Given the description of an element on the screen output the (x, y) to click on. 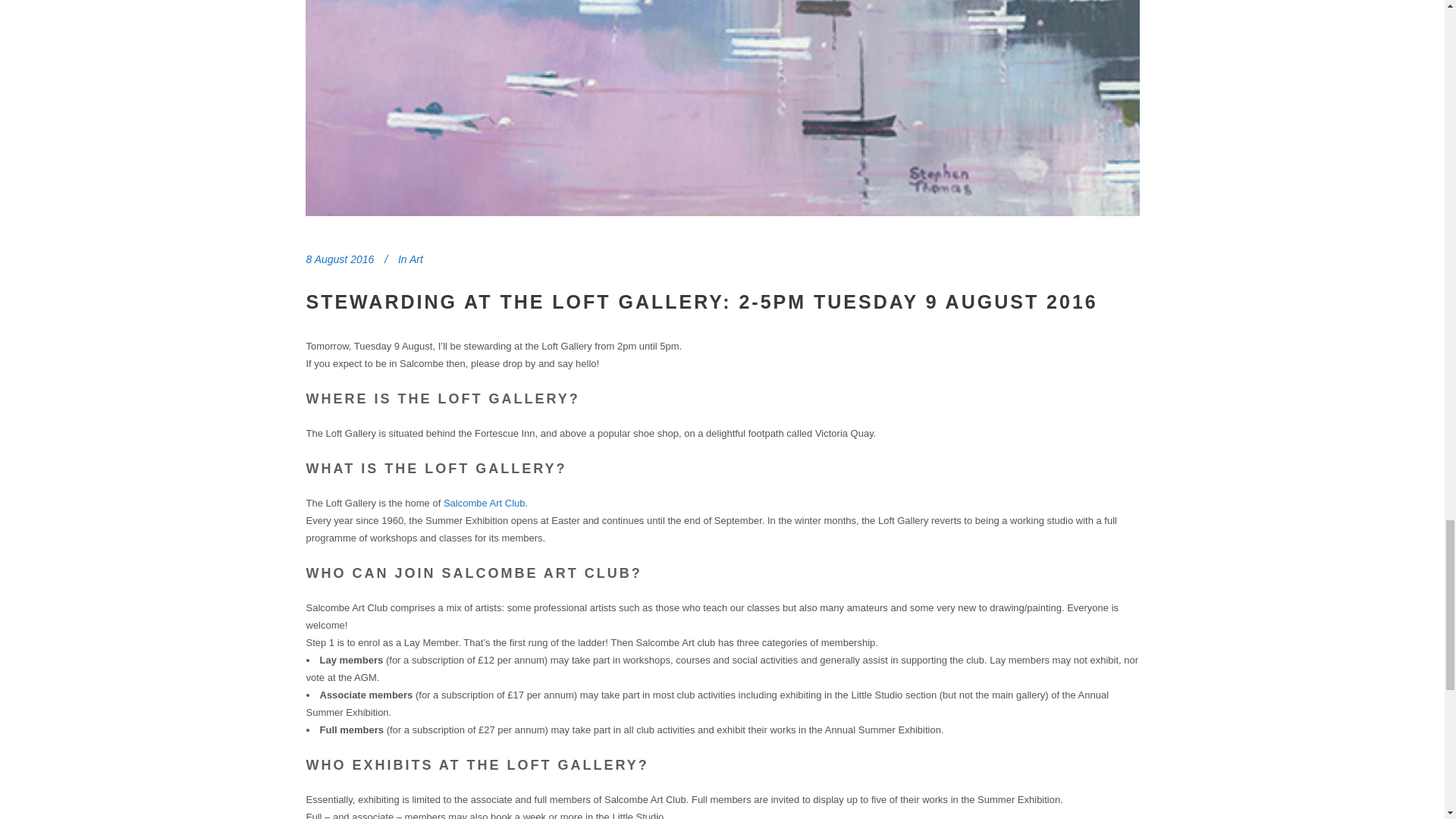
Art (416, 259)
Stewarding at The Loft Gallery: 2-5pm Tuesday 9 August 2016 (701, 301)
STEWARDING AT THE LOFT GALLERY: 2-5PM TUESDAY 9 AUGUST 2016 (701, 301)
Salcombe Art Club (484, 502)
